Given the description of an element on the screen output the (x, y) to click on. 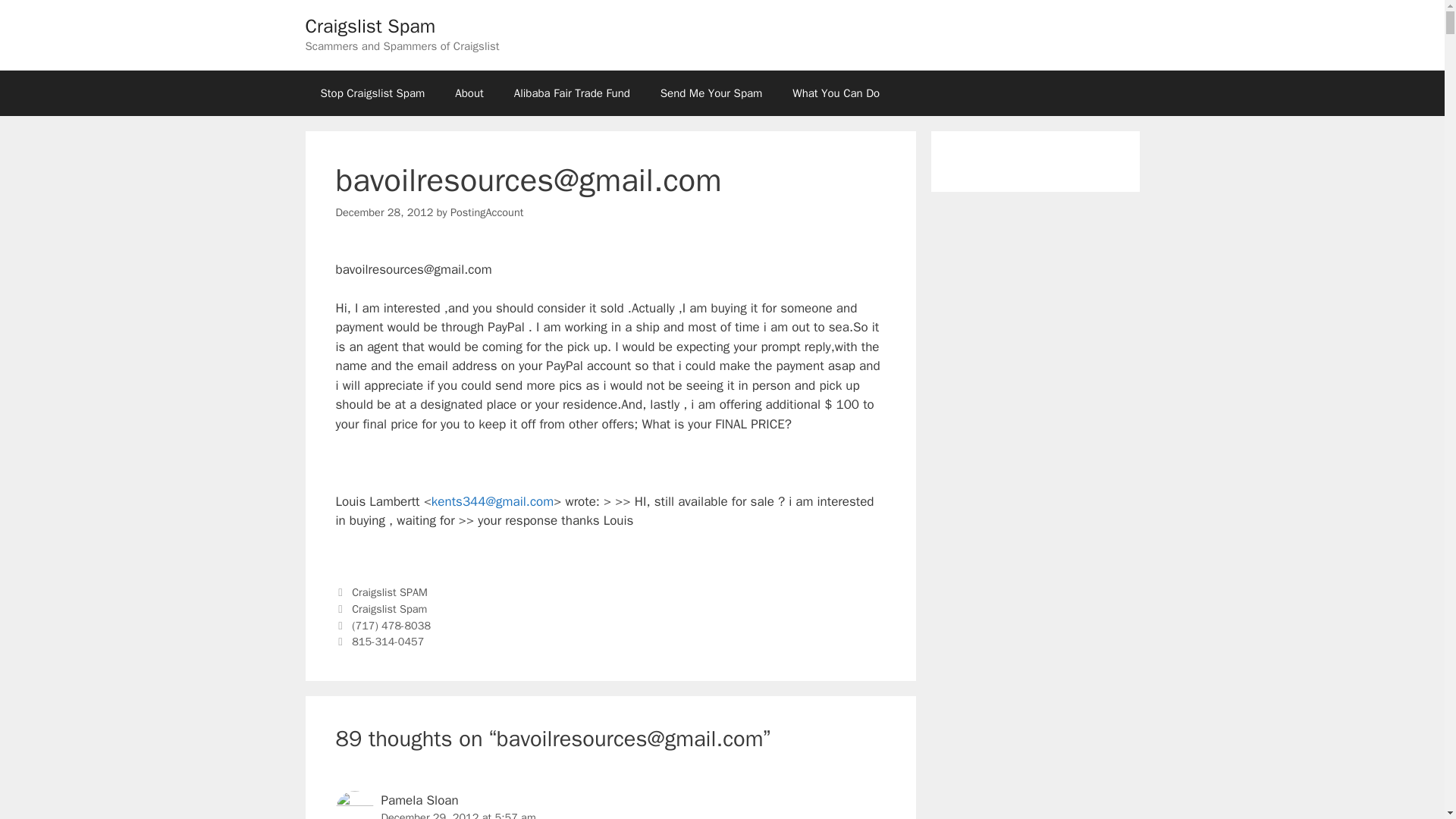
Stop Craigslist Spam (371, 92)
View all posts by PostingAccount (485, 212)
December 29, 2012 at 5:57 am (457, 814)
Next (378, 641)
Alibaba Fair Trade Fund (572, 92)
Craigslist Spam (369, 25)
Previous (382, 625)
Send Me Your Spam (711, 92)
Craigslist Spam (389, 608)
Craigslist SPAM (390, 591)
